Given the description of an element on the screen output the (x, y) to click on. 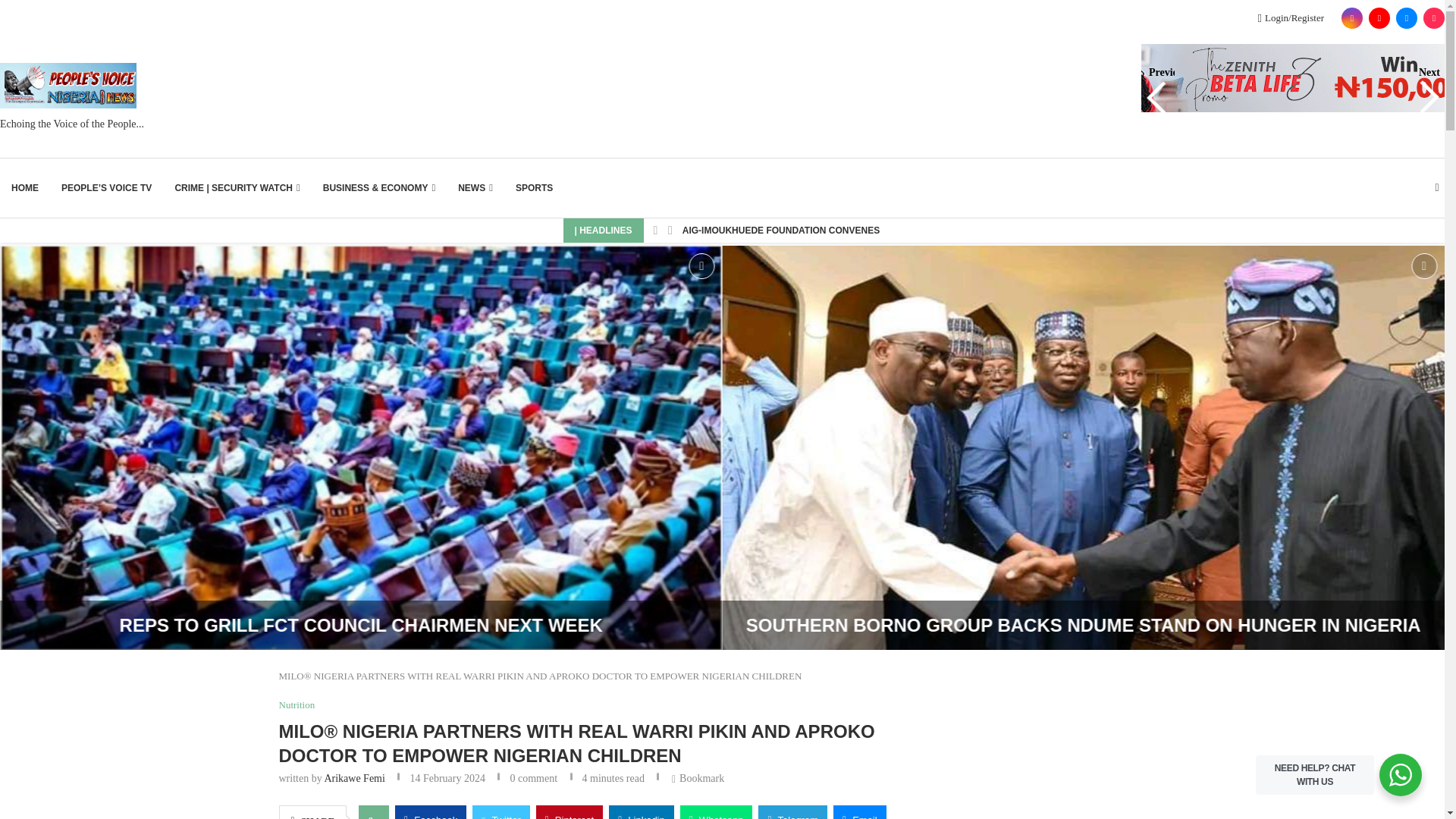
Echoing the Voice of the People... (72, 97)
